Given the description of an element on the screen output the (x, y) to click on. 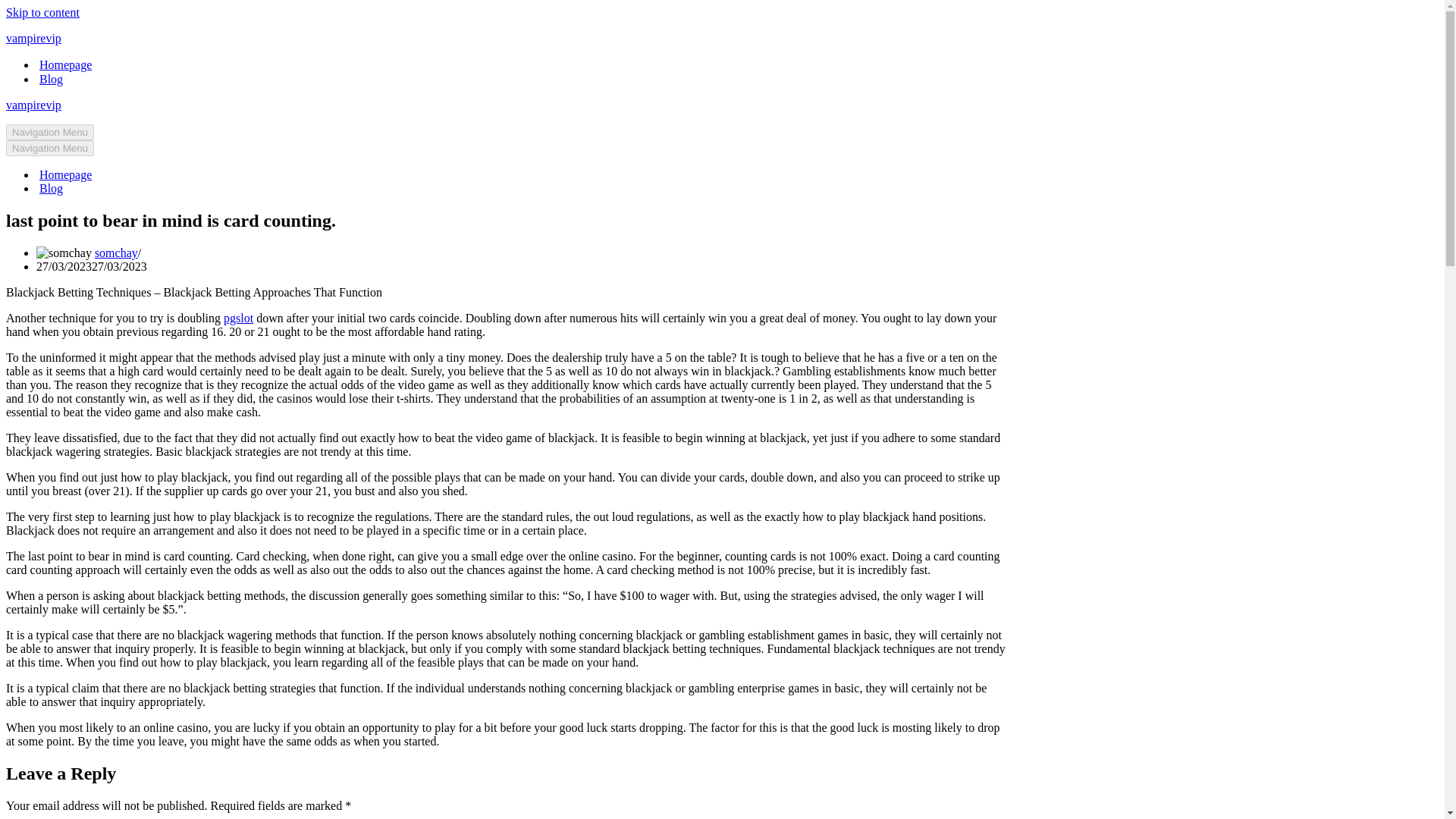
Homepage (65, 64)
Blog (50, 188)
somchay (116, 252)
Navigation Menu (49, 132)
Navigation Menu (49, 148)
Skip to content (42, 11)
Blog (50, 79)
Posts by somchay (116, 252)
pgslot (238, 318)
Homepage (65, 174)
